Given the description of an element on the screen output the (x, y) to click on. 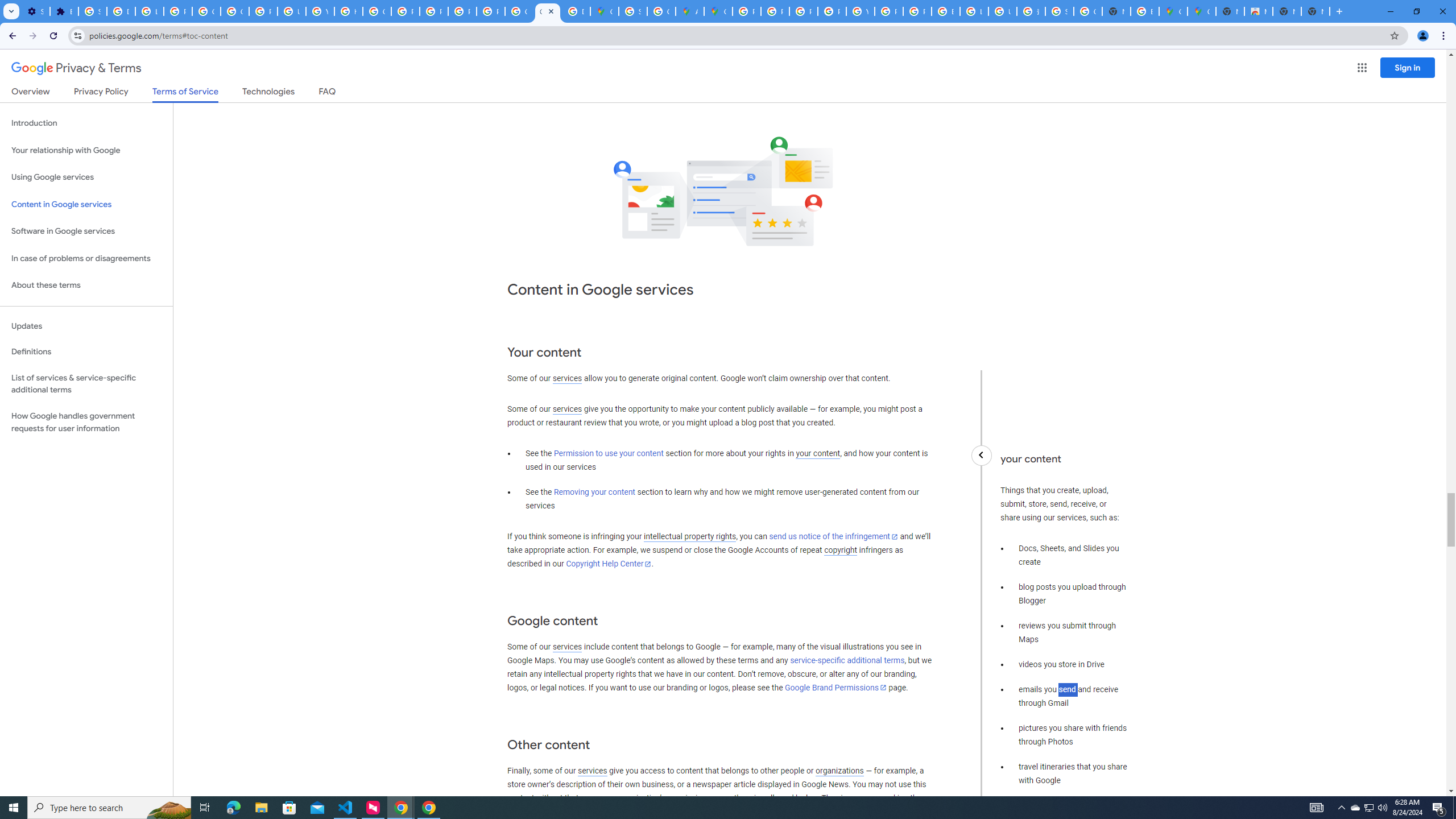
New Tab (1230, 11)
organizations (839, 770)
Google Maps (1173, 11)
Your relationship with Google (86, 150)
List of services & service-specific additional terms (86, 383)
your content (817, 453)
In case of problems or disagreements (86, 258)
Google Account Help (206, 11)
Removing your content (593, 492)
Using Google services (86, 176)
